Given the description of an element on the screen output the (x, y) to click on. 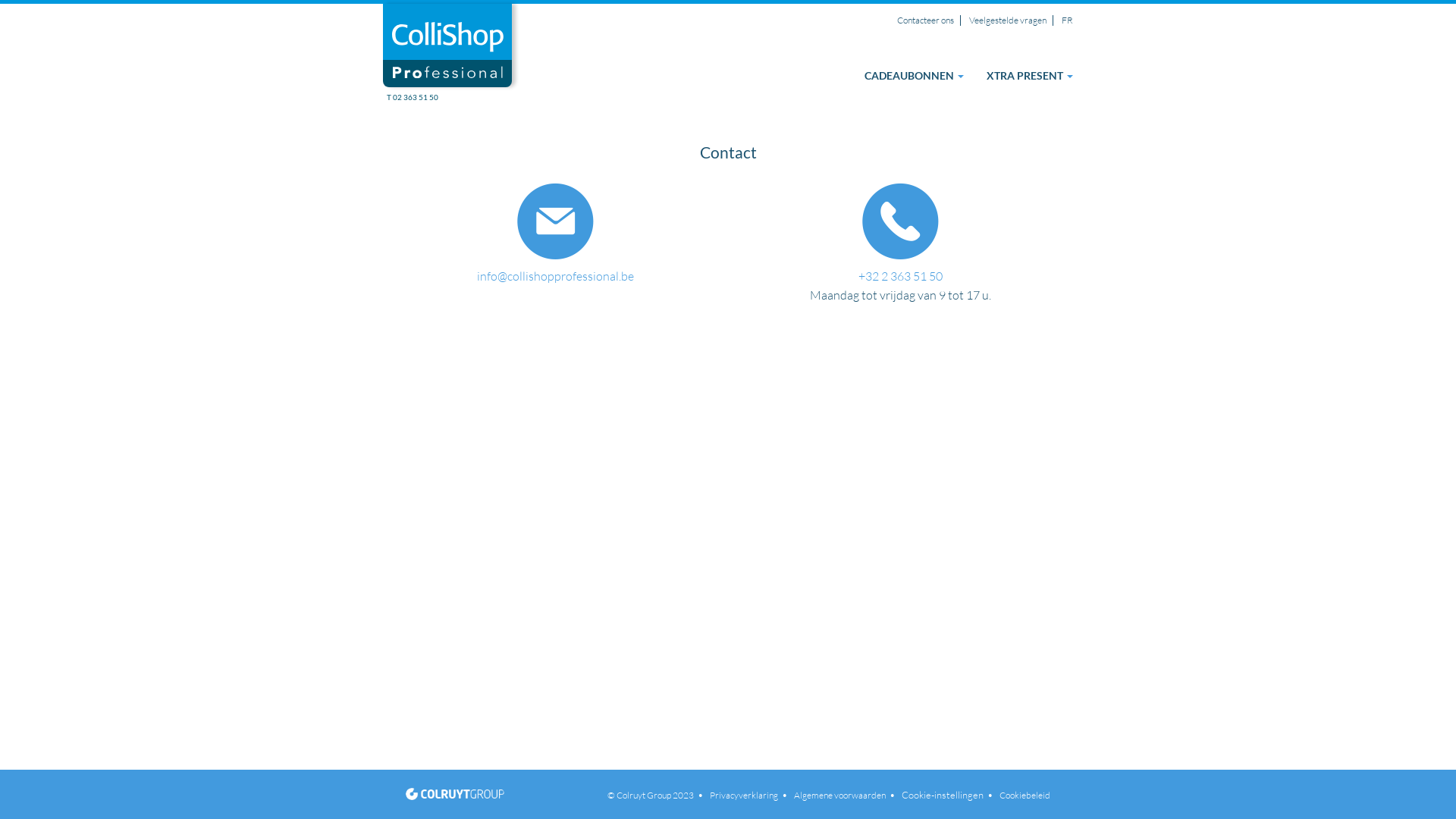
02 363 51 50 Element type: text (412, 96)
Contacteer ons Element type: text (925, 20)
+32 2 363 51 50 Element type: text (900, 275)
Cookiebeleid Element type: text (1022, 794)
Privacyverklaring Element type: text (743, 794)
Algemene voorwaarden Element type: text (839, 794)
CADEAUBONNEN Element type: text (914, 75)
info@collishopprofessional.be Element type: text (554, 275)
XTRA PRESENT Element type: text (1029, 75)
FR Element type: text (1067, 20)
Cookie-instellingen Element type: text (942, 794)
Veelgestelde vragen Element type: text (1007, 20)
Collishop Professional Element type: text (446, 53)
